Given the description of an element on the screen output the (x, y) to click on. 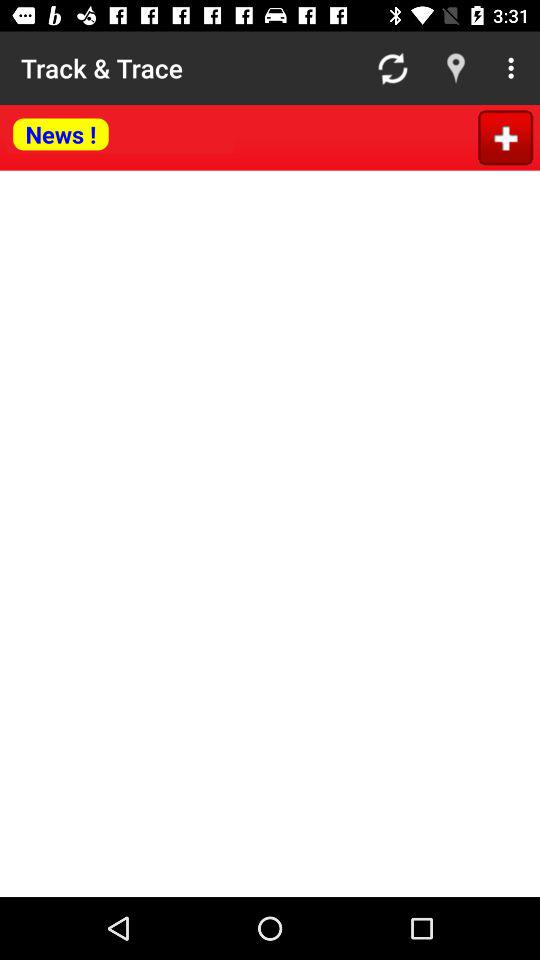
news button (120, 135)
